Given the description of an element on the screen output the (x, y) to click on. 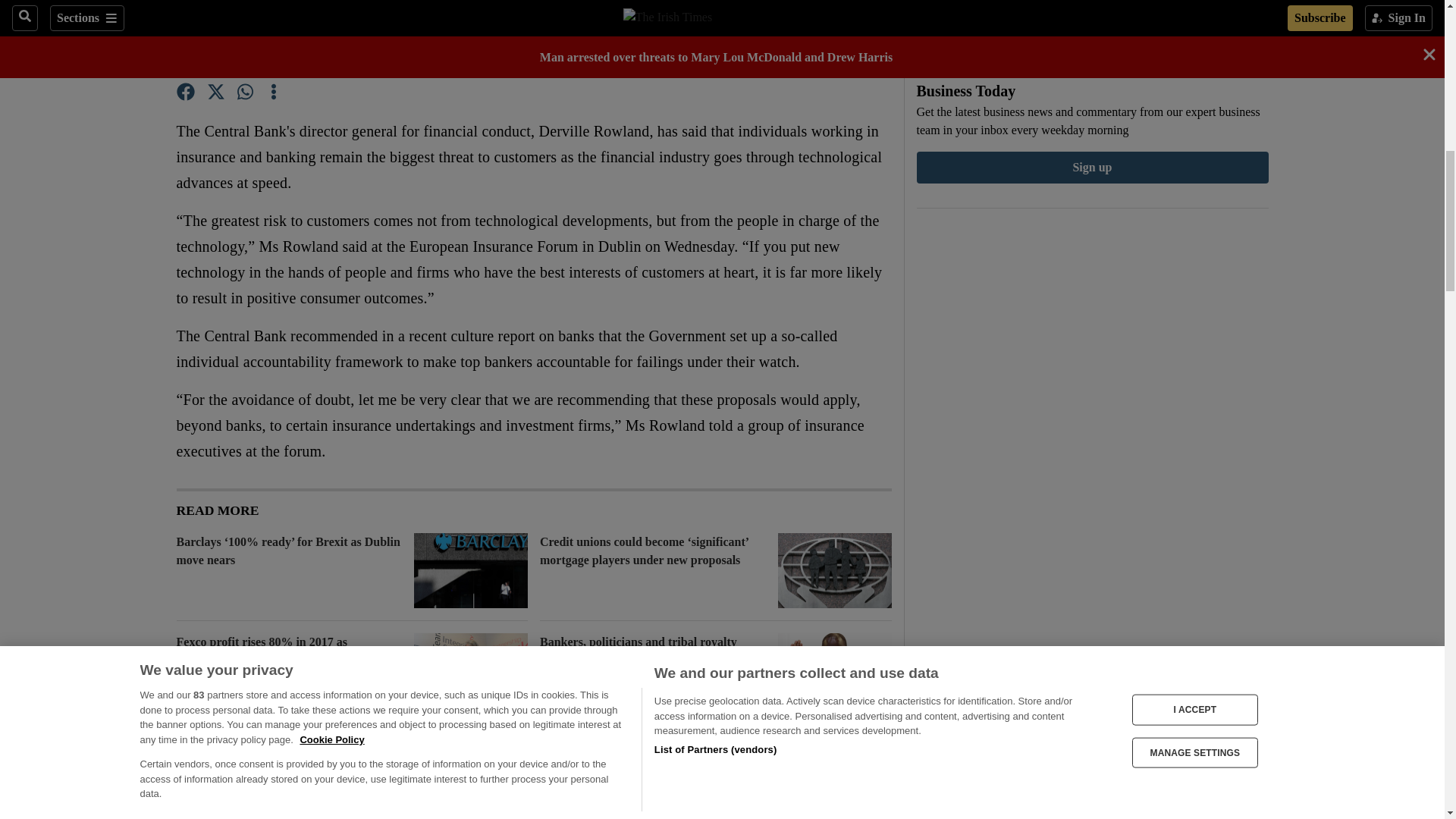
X (215, 94)
Facebook (184, 94)
WhatsApp (244, 94)
